Given the description of an element on the screen output the (x, y) to click on. 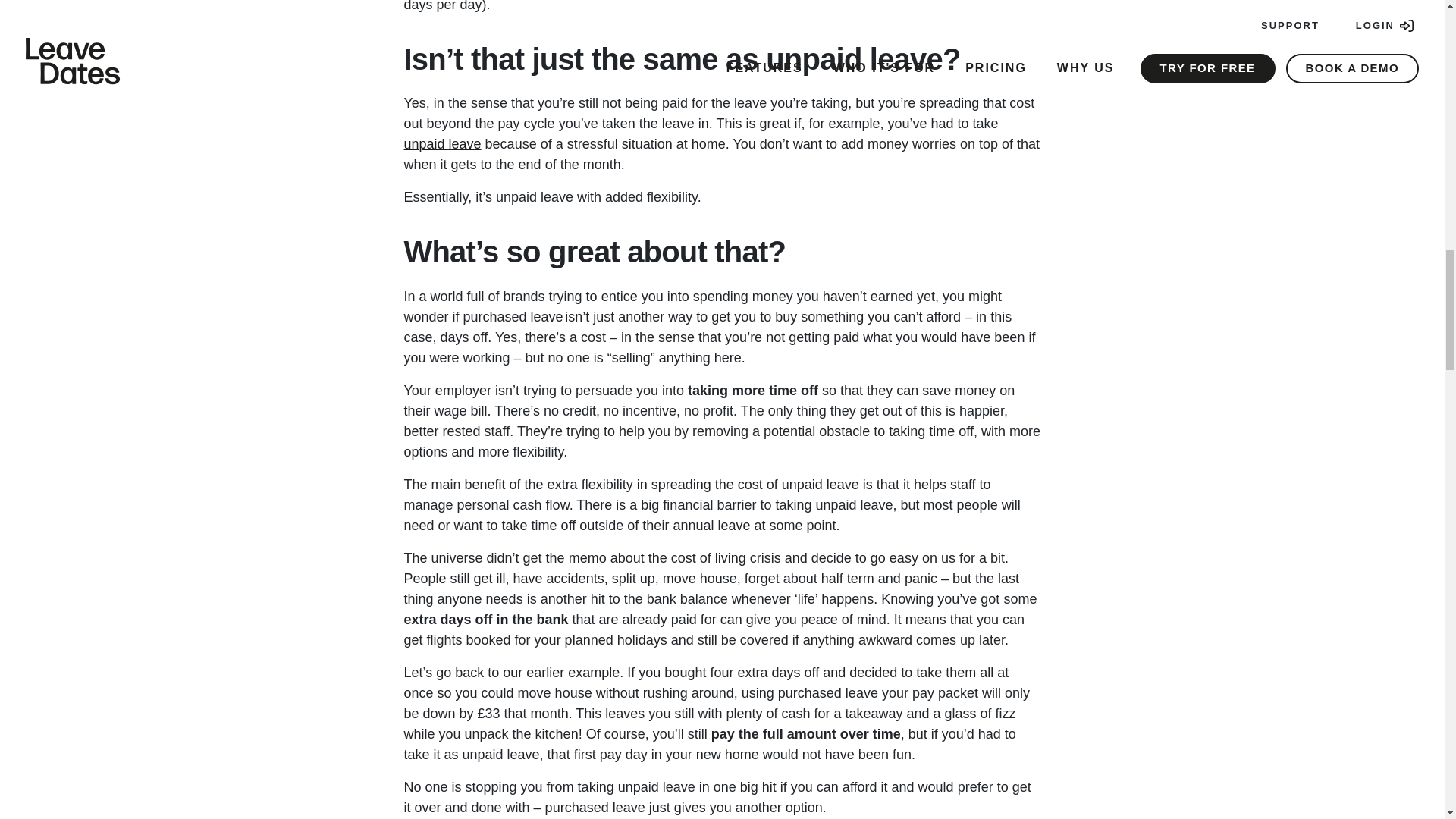
unpaid leave (441, 143)
